Given the description of an element on the screen output the (x, y) to click on. 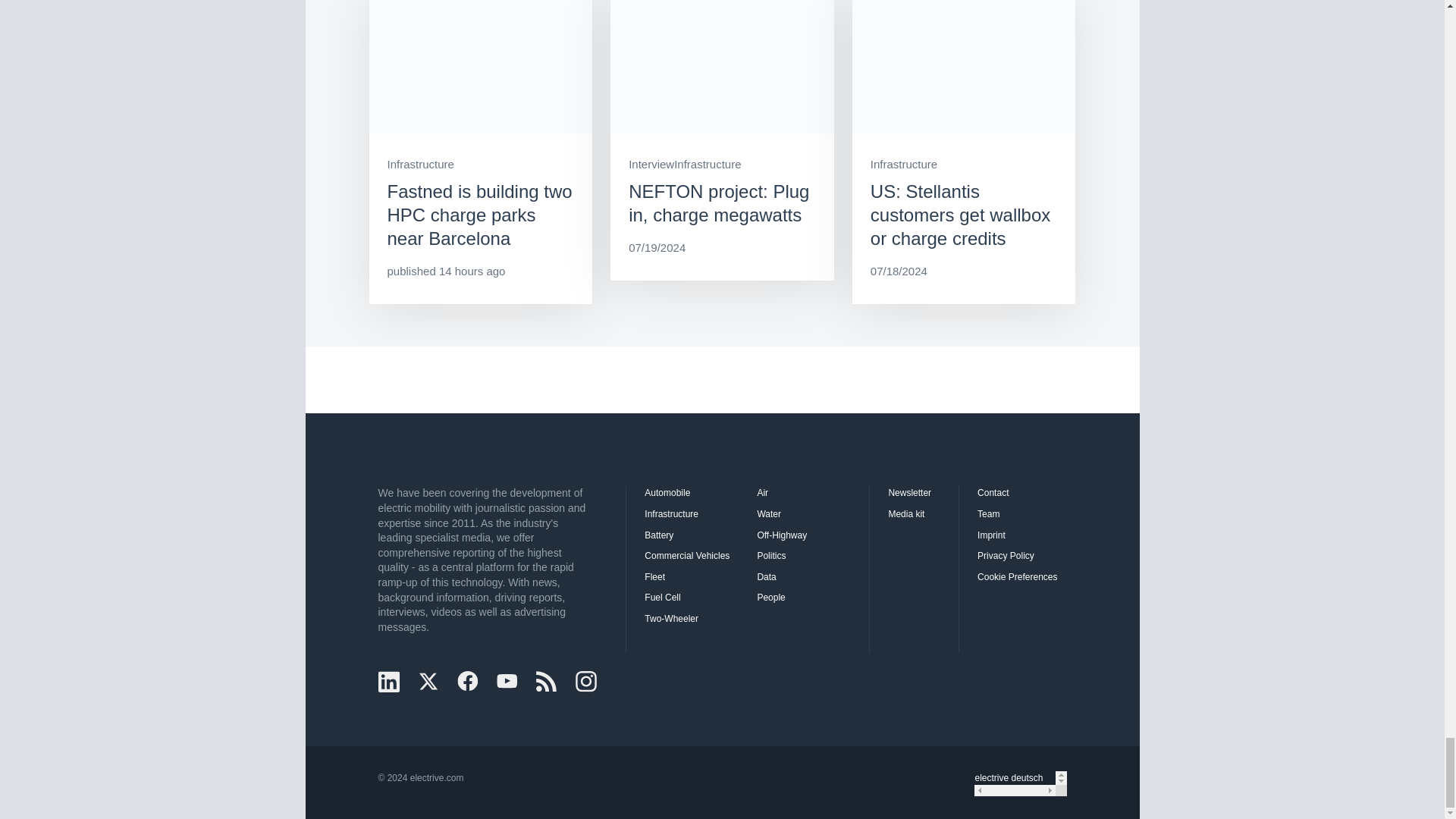
electrive deutsch (1014, 778)
